Given the description of an element on the screen output the (x, y) to click on. 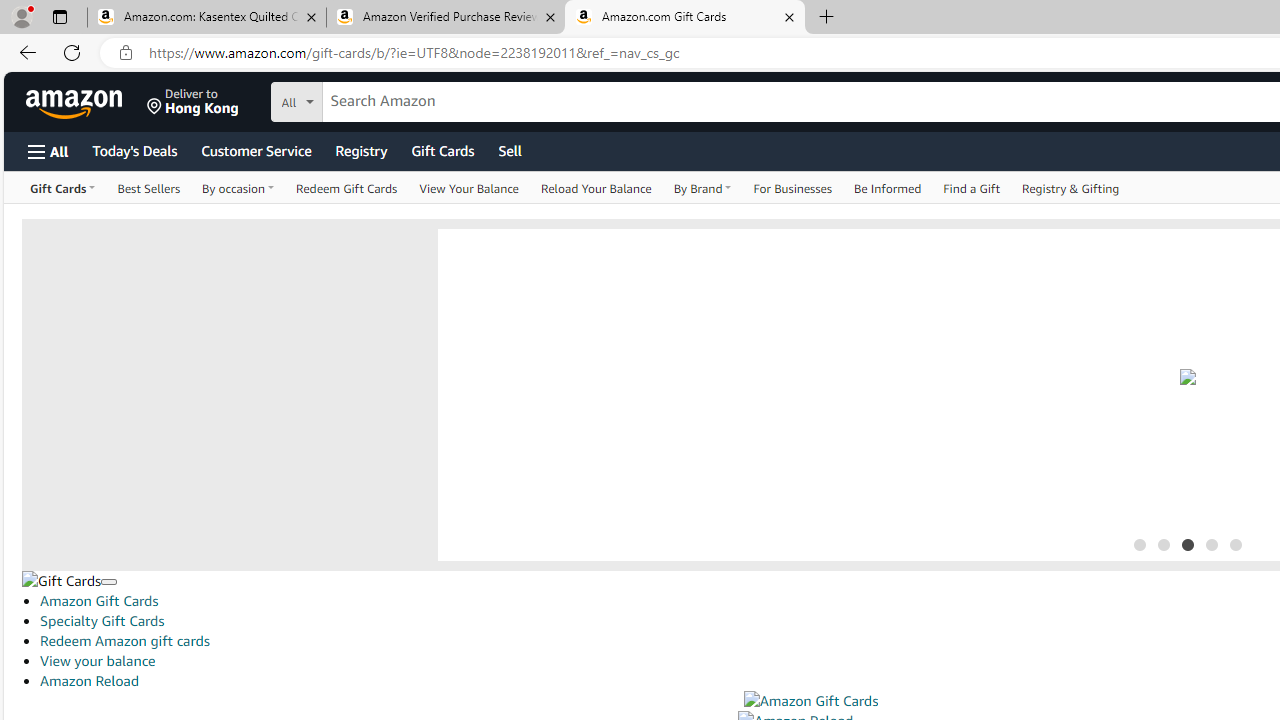
For Businesses (792, 187)
Reload Your Balance (595, 187)
Specialty Gift Cards (102, 621)
Best Sellers (149, 187)
Registry & Gifting (1071, 187)
Deliver to Hong Kong (193, 101)
Skip to main content (86, 100)
View Your Balance (468, 187)
View your balance (97, 661)
